Given the description of an element on the screen output the (x, y) to click on. 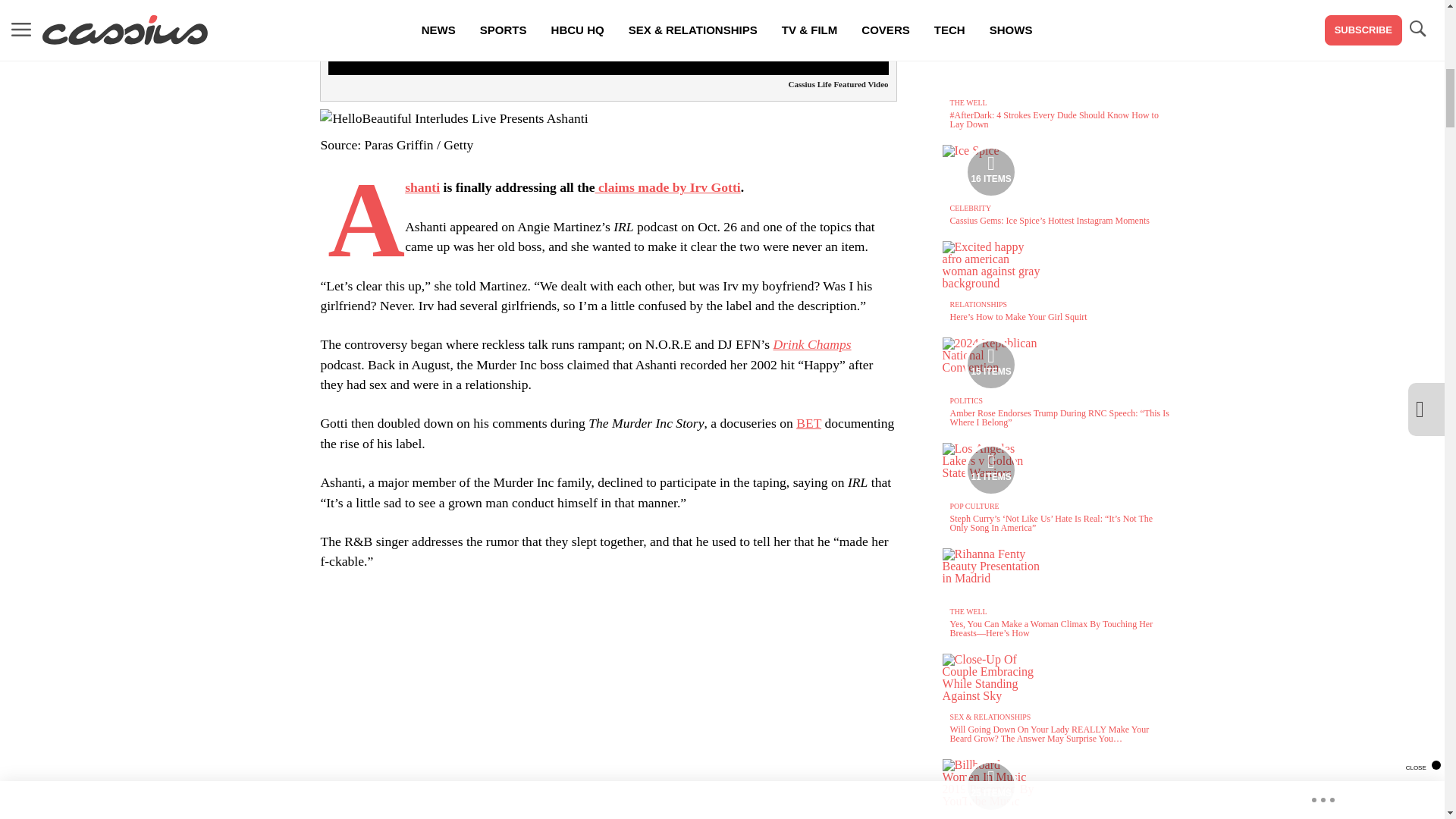
Media Playlist (990, 786)
15 ITEMS (991, 365)
THE WELL (968, 102)
Media Playlist (990, 364)
RELATIONSHIPS (978, 304)
16 ITEMS (421, 186)
claims made by Irv Gotti (991, 171)
Media Playlist (668, 186)
POLITICS (990, 172)
Media Playlist (966, 400)
BET (990, 469)
CELEBRITY (808, 422)
Drink Champs (970, 207)
